Given the description of an element on the screen output the (x, y) to click on. 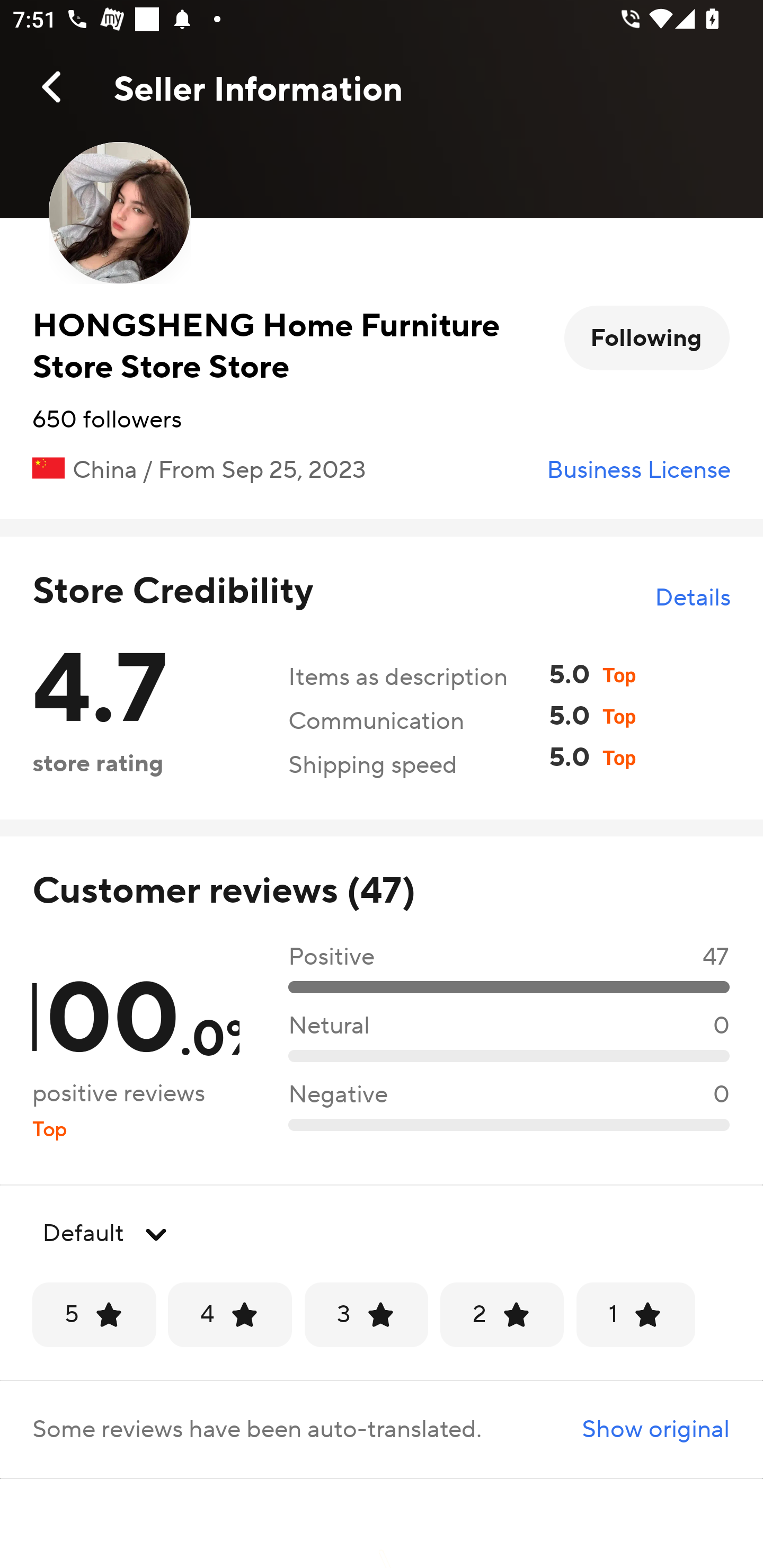
Following (646, 337)
Business License (638, 470)
Details (692, 597)
Default (381, 1233)
5 (94, 1314)
4 (229, 1314)
3 (366, 1314)
2 (501, 1314)
1 (635, 1314)
Show original (639, 1428)
